Given the description of an element on the screen output the (x, y) to click on. 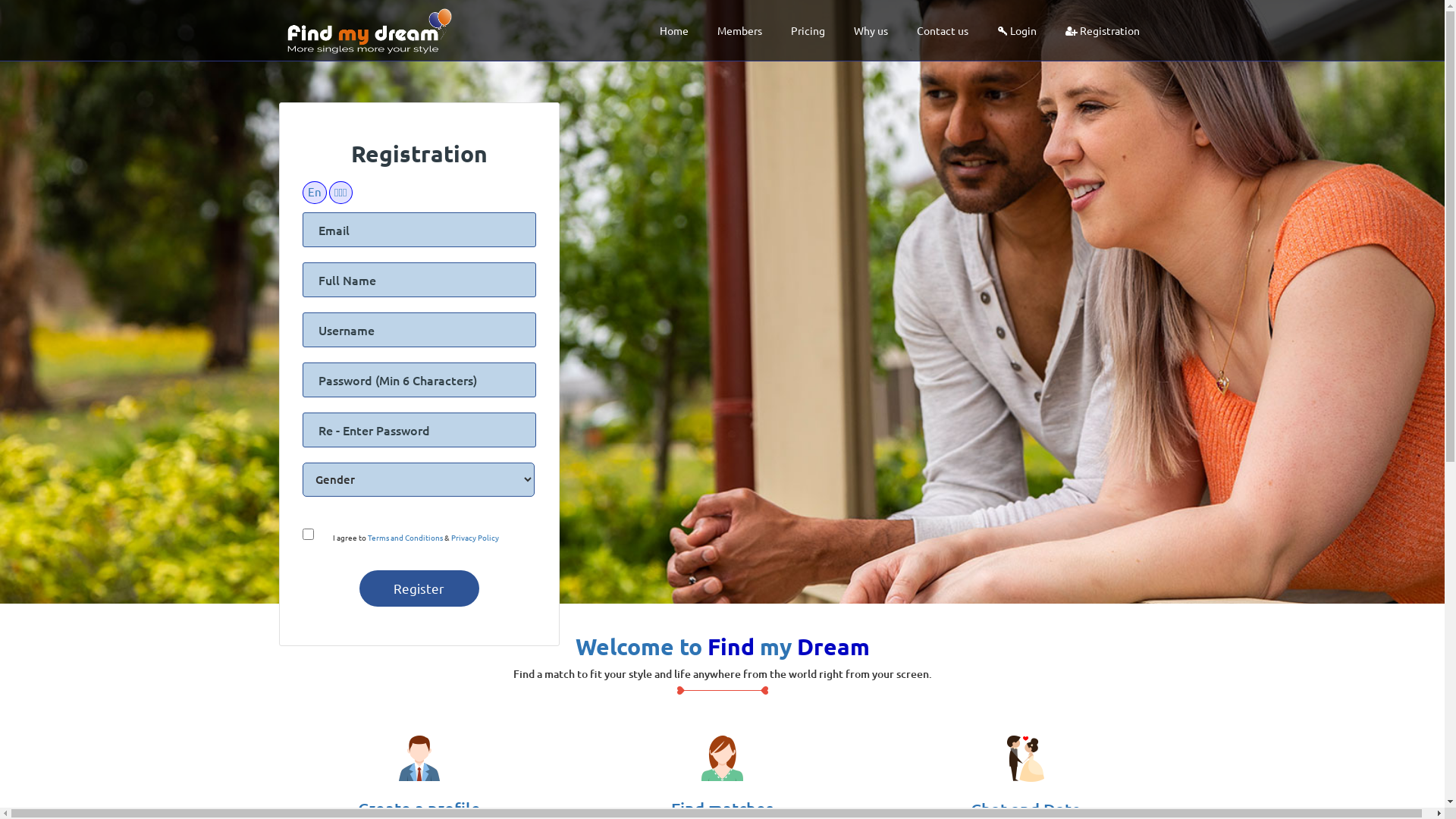
Home Element type: text (673, 30)
Registration Element type: text (1101, 30)
Members Element type: text (739, 30)
Terms and Conditions Element type: text (405, 536)
Privacy Policy Element type: text (474, 536)
Contact us Element type: text (941, 30)
Register Element type: text (418, 588)
Pricing Element type: text (807, 30)
Login Element type: text (1015, 30)
Why us Element type: text (870, 30)
En Element type: text (313, 192)
